Given the description of an element on the screen output the (x, y) to click on. 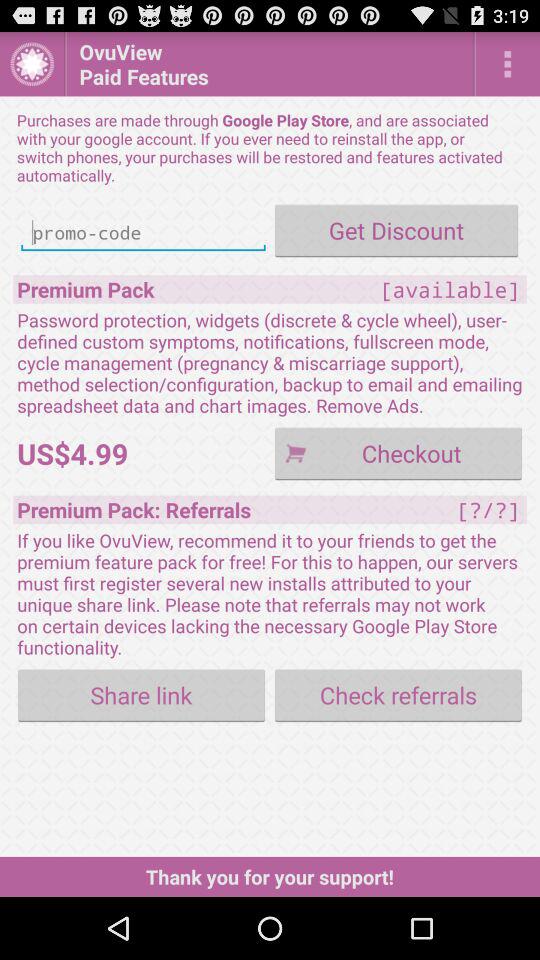
click to see more options (507, 63)
